Given the description of an element on the screen output the (x, y) to click on. 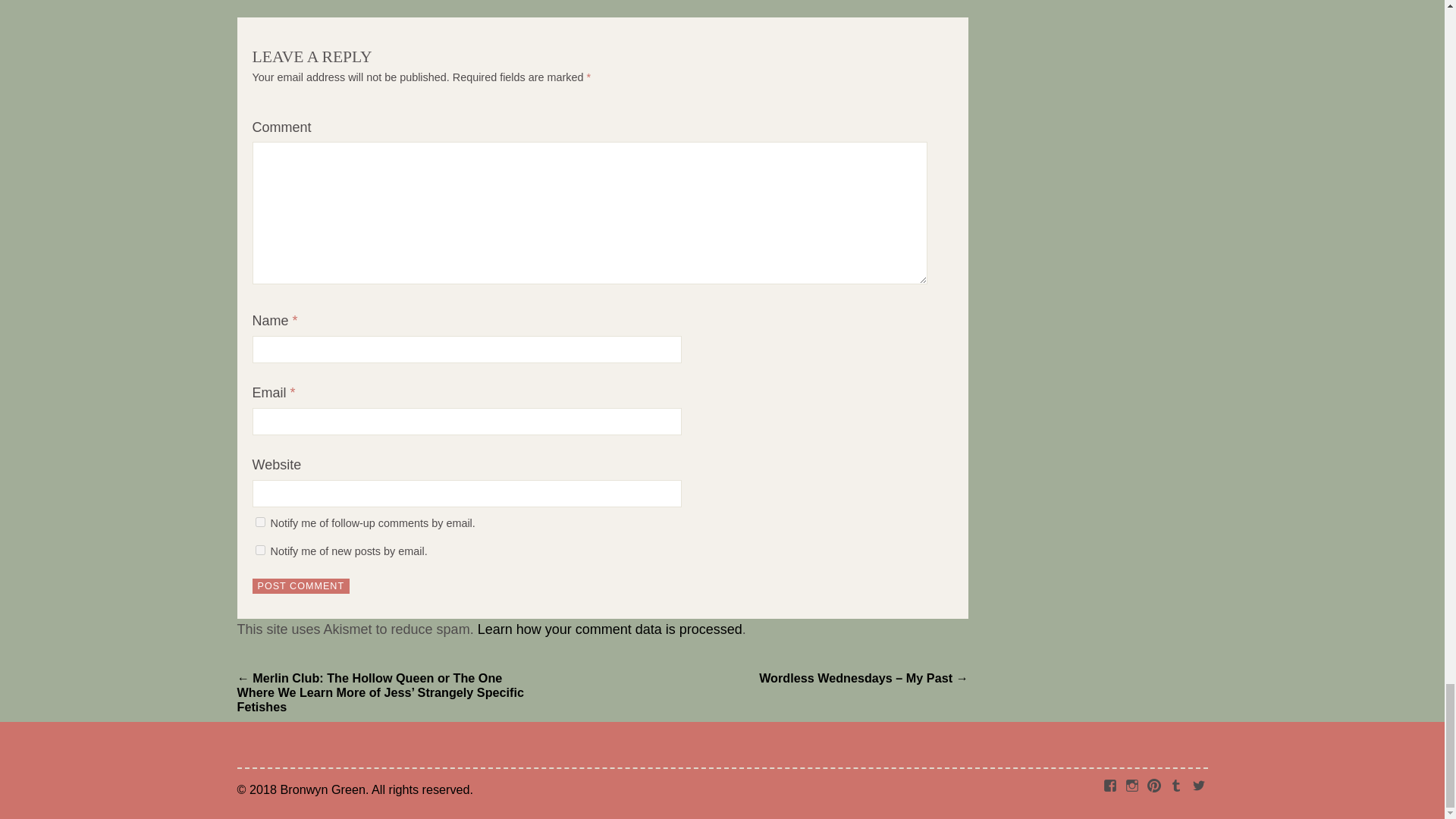
Post Comment (300, 585)
subscribe (259, 550)
subscribe (259, 521)
